Given the description of an element on the screen output the (x, y) to click on. 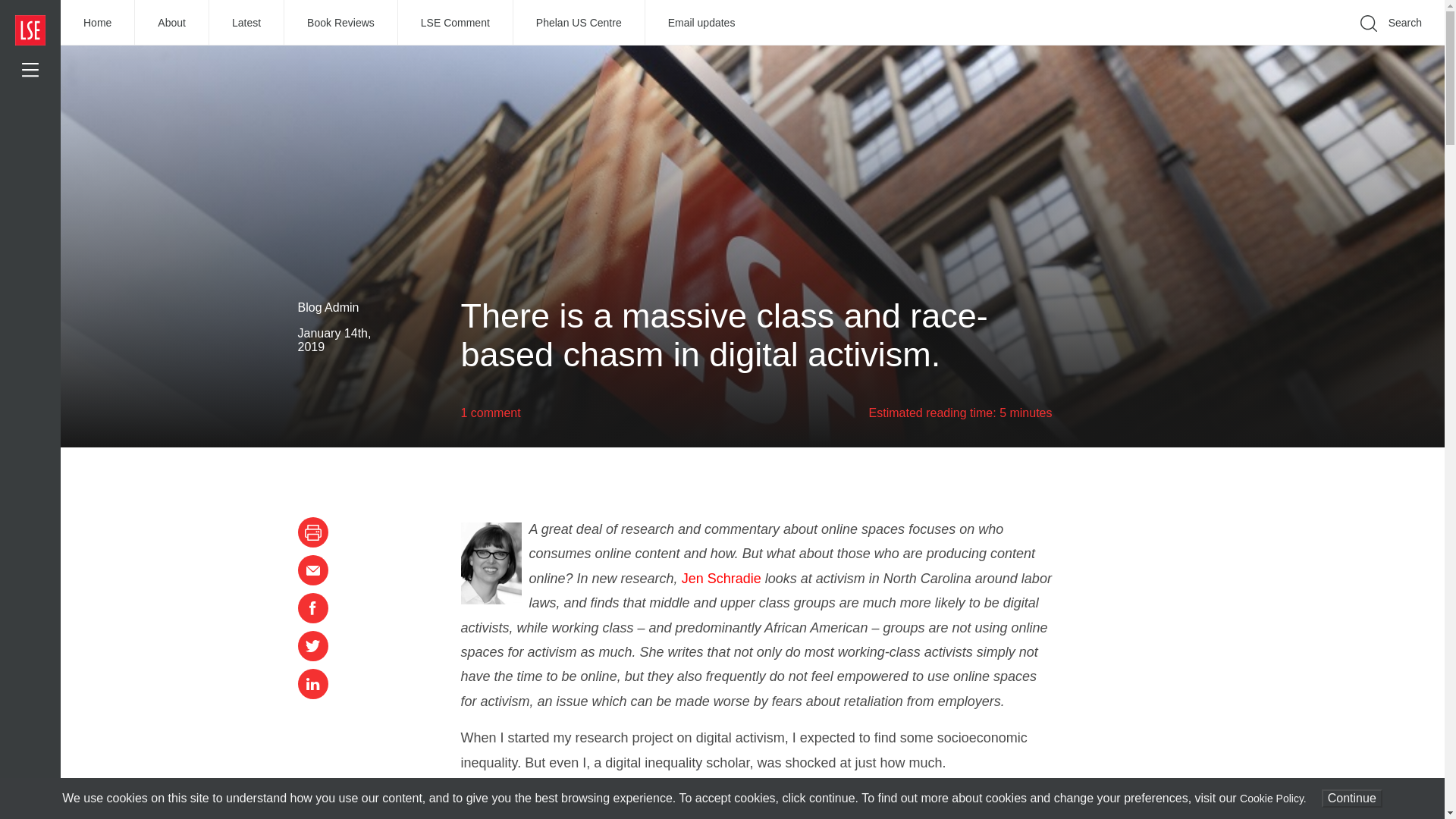
About (172, 22)
LSE Comment (455, 22)
Book Reviews (340, 22)
Email updates (701, 22)
Jen Schradie (721, 578)
Phelan US Centre (579, 22)
Home (98, 22)
1 comment (491, 412)
Go (1190, 44)
Latest (246, 22)
